Given the description of an element on the screen output the (x, y) to click on. 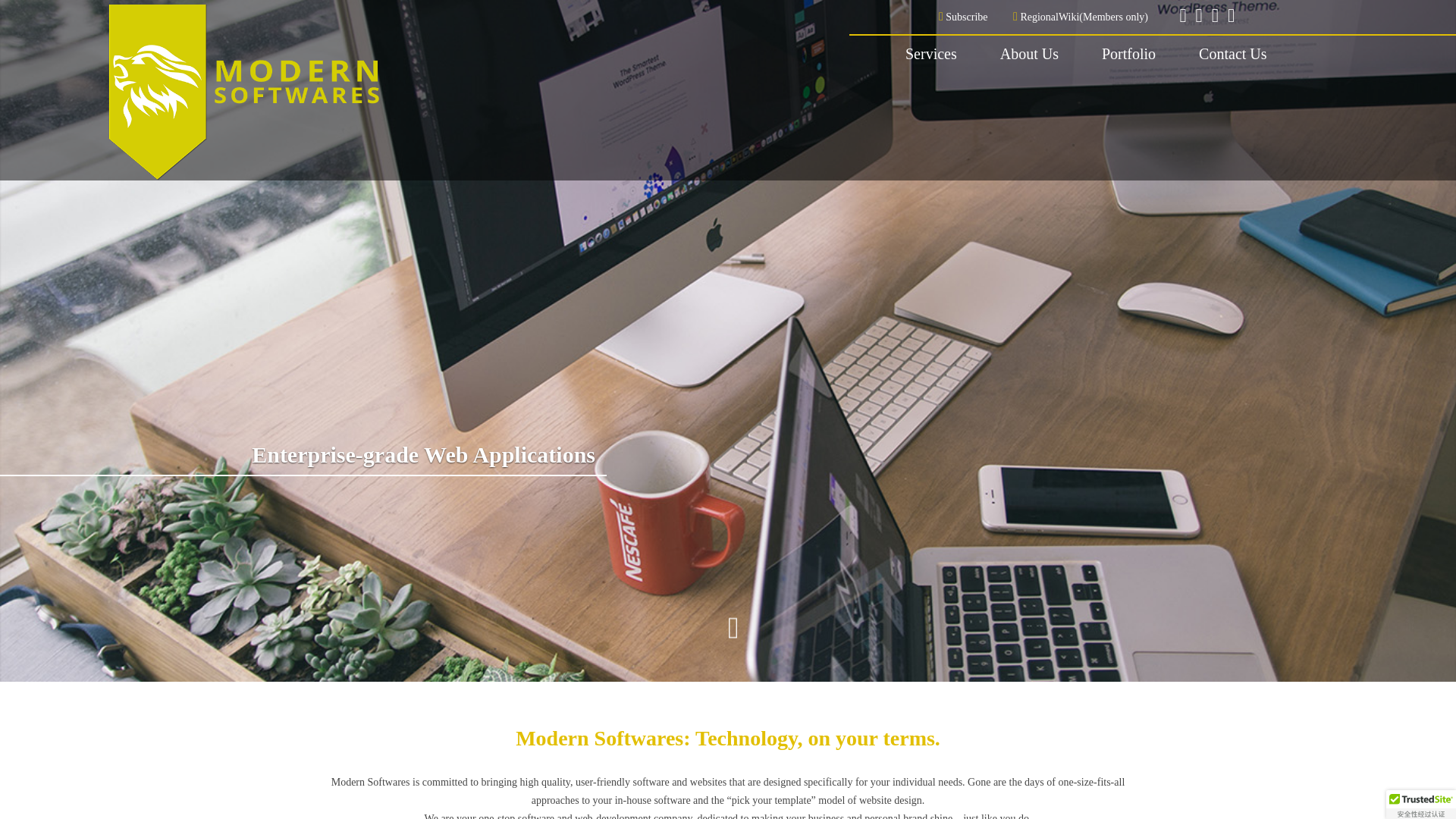
About Us (1029, 55)
Services (930, 55)
Portfolio (1128, 55)
Subscribe (963, 16)
Contact Us (1232, 55)
